Given the description of an element on the screen output the (x, y) to click on. 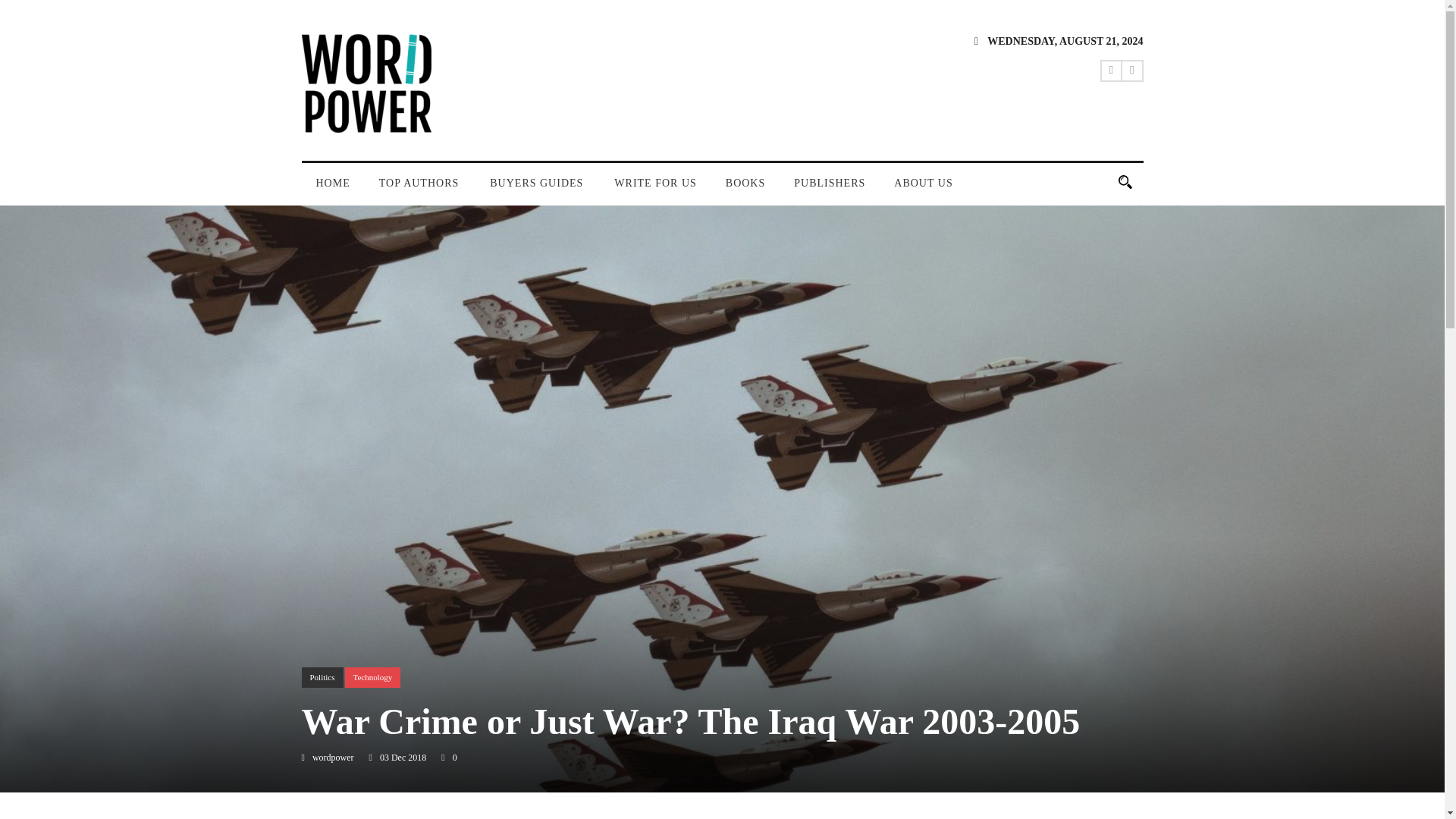
BOOKS (744, 189)
TOP AUTHORS (420, 189)
Posts by wordpower (333, 757)
BUYERS GUIDES (537, 189)
Politics (322, 677)
ABOUT US (922, 189)
WRITE FOR US (654, 189)
PUBLISHERS (828, 189)
HOME (333, 189)
